Given the description of an element on the screen output the (x, y) to click on. 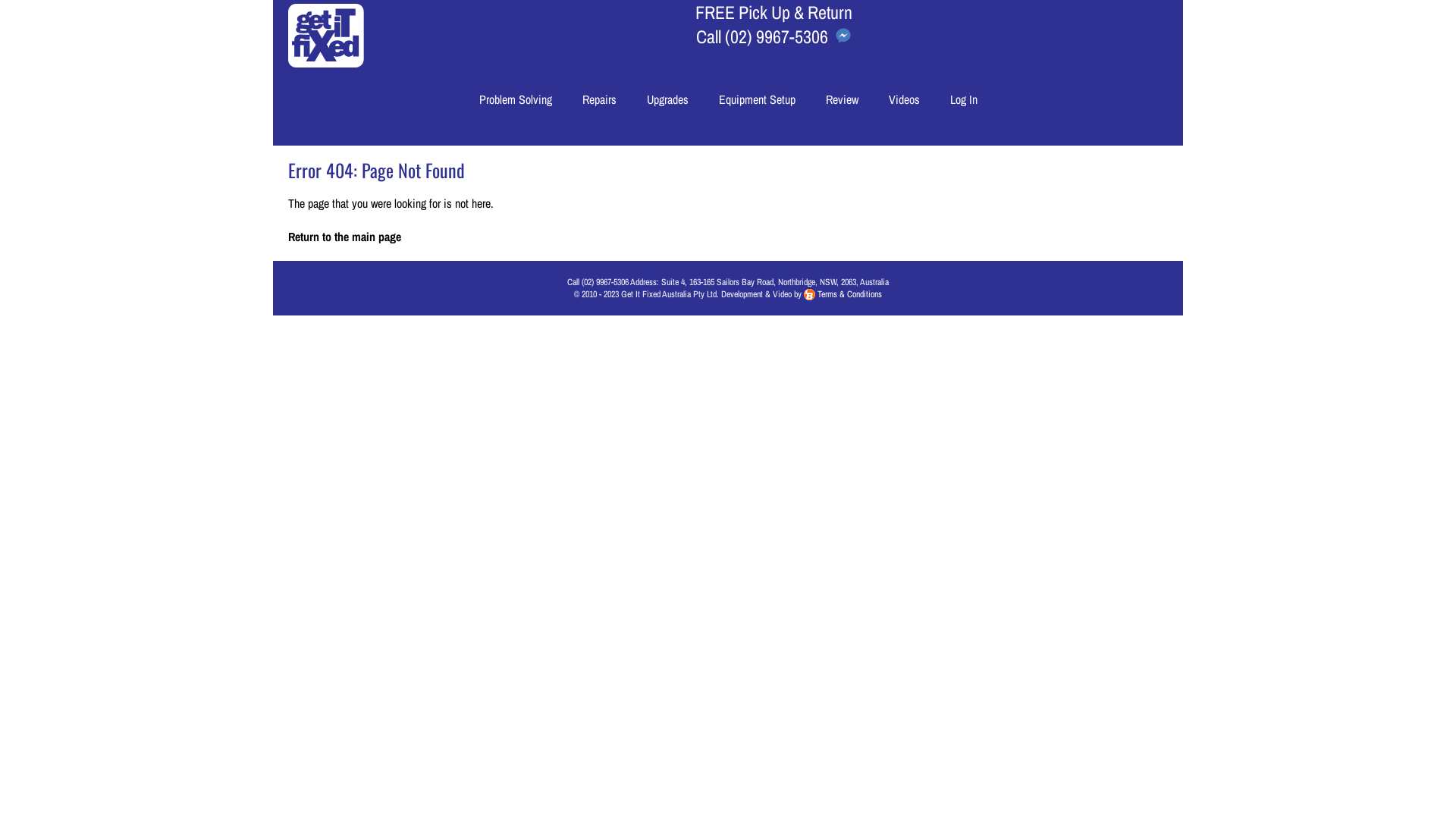
Repairs Element type: text (599, 99)
Terms & Conditions Element type: text (849, 294)
Review Element type: text (840, 99)
Problem Solving Element type: text (515, 99)
Return to the main page Element type: text (344, 236)
Videos Element type: text (904, 99)
Equipment Setup Element type: text (756, 99)
Log In Element type: text (962, 99)
Upgrades Element type: text (666, 99)
FREE Pick Up & Return
Call Element type: text (772, 24)
(02) 9967-5306 Element type: text (776, 36)
